Given the description of an element on the screen output the (x, y) to click on. 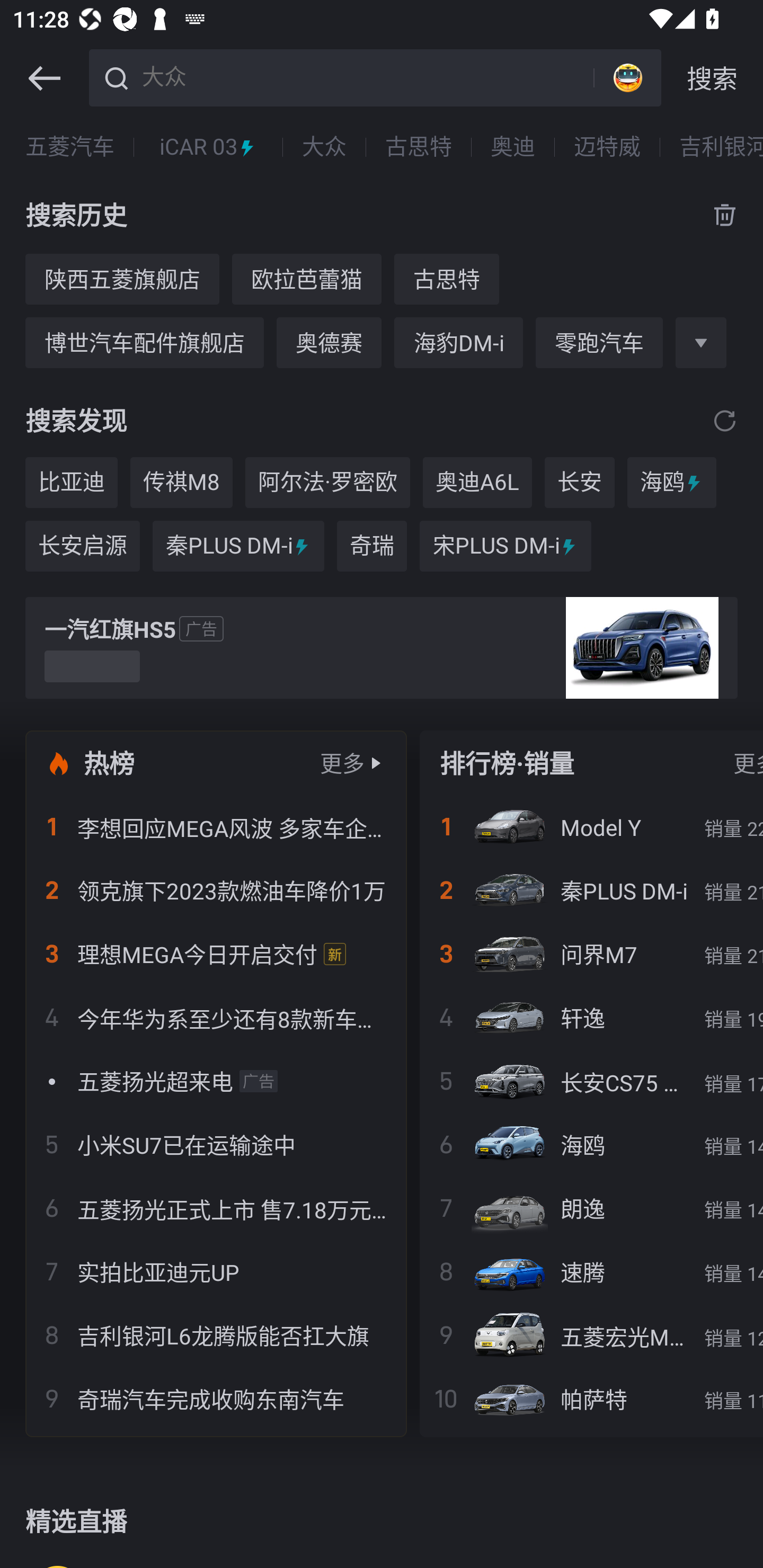
 大众 (364, 76)
 (44, 78)
搜索 (711, 78)
五菱汽车 (69, 147)
iCAR 03 (208, 147)
大众 (324, 147)
古思特 (418, 147)
奥迪 (512, 147)
迈特威 (606, 147)
吉利银河 (721, 147)
陕西五菱旗舰店 (121, 278)
欧拉芭蕾猫 (306, 278)
古思特 (446, 278)
博世汽车配件旗舰店 (144, 342)
奥德赛 (329, 342)
海豹DM-i (458, 342)
零跑汽车 (598, 342)
 (724, 419)
比亚迪 (71, 482)
传祺M8 (181, 482)
阿尔法·罗密欧 (327, 482)
奥迪A6L (476, 482)
长安 (579, 482)
海鸥 (671, 482)
长安启源 (82, 546)
秦PLUS DM-i (238, 546)
奇瑞 (371, 546)
宋PLUS DM-i (505, 546)
一汽红旗HS5 广告 预约试驾 (381, 648)
更多 (341, 762)
李想回应MEGA风波 多家车企表态 (215, 826)
Model Y 销量 22537 (591, 826)
领克旗下2023款燃油车降价1万 (215, 890)
秦PLUS DM-i 销量 21268 (591, 890)
理想MEGA今日开启交付 (215, 953)
问界M7 销量 21083 (591, 953)
今年华为系至少还有8款新车要来 (215, 1017)
轩逸 销量 19878 (591, 1017)
五菱扬光超来电 (215, 1080)
长安CS75 PLUS 销量 17303 (591, 1080)
小米SU7已在运输途中 (215, 1144)
海鸥 销量 14403 (591, 1144)
五菱扬光正式上市 售7.18万元起 (215, 1208)
朗逸 销量 14400 (591, 1208)
实拍比亚迪元UP (215, 1271)
速腾 销量 14209 (591, 1271)
吉利银河L6龙腾版能否扛大旗 (215, 1335)
五菱宏光MINIEV 销量 12649 (591, 1335)
奇瑞汽车完成收购东南汽车 (215, 1398)
帕萨特 销量 11641 (591, 1398)
